Given the description of an element on the screen output the (x, y) to click on. 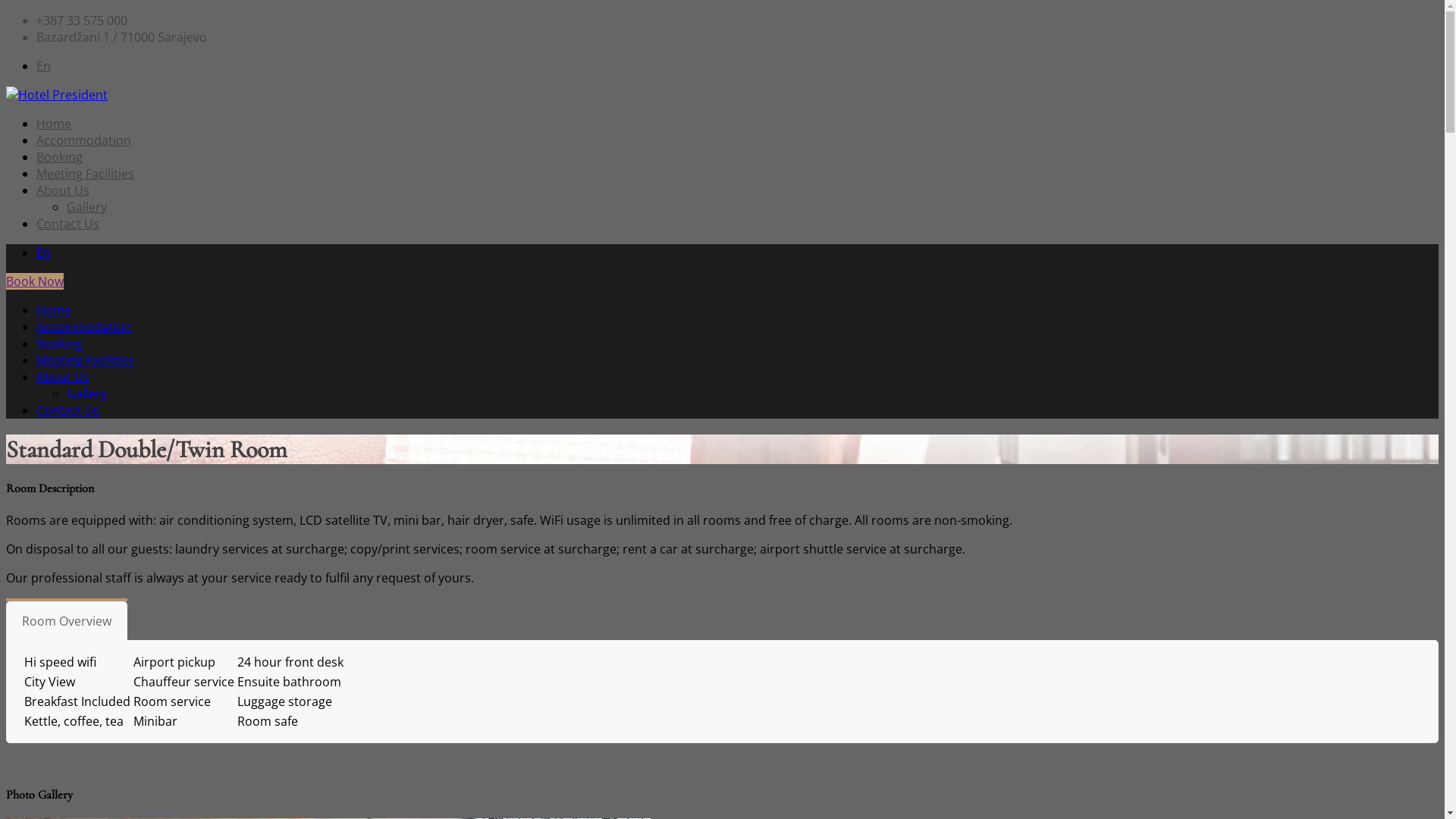
Meeting Facilities Element type: text (85, 173)
Gallery Element type: text (86, 393)
About Us Element type: text (62, 376)
Accommodation Element type: text (83, 326)
Sarajevo Element type: hover (56, 94)
En Element type: text (43, 65)
About Us Element type: text (62, 190)
Home Element type: text (53, 123)
Booking Element type: text (59, 343)
Accommodation Element type: text (83, 139)
Contact Us Element type: text (67, 223)
Room Overview Element type: text (66, 620)
Gallery Element type: text (86, 206)
Home Element type: text (53, 309)
Book Now Element type: text (34, 281)
Contact Us Element type: text (67, 409)
En Element type: text (43, 252)
Meeting Facilities Element type: text (85, 359)
Booking Element type: text (59, 156)
